Given the description of an element on the screen output the (x, y) to click on. 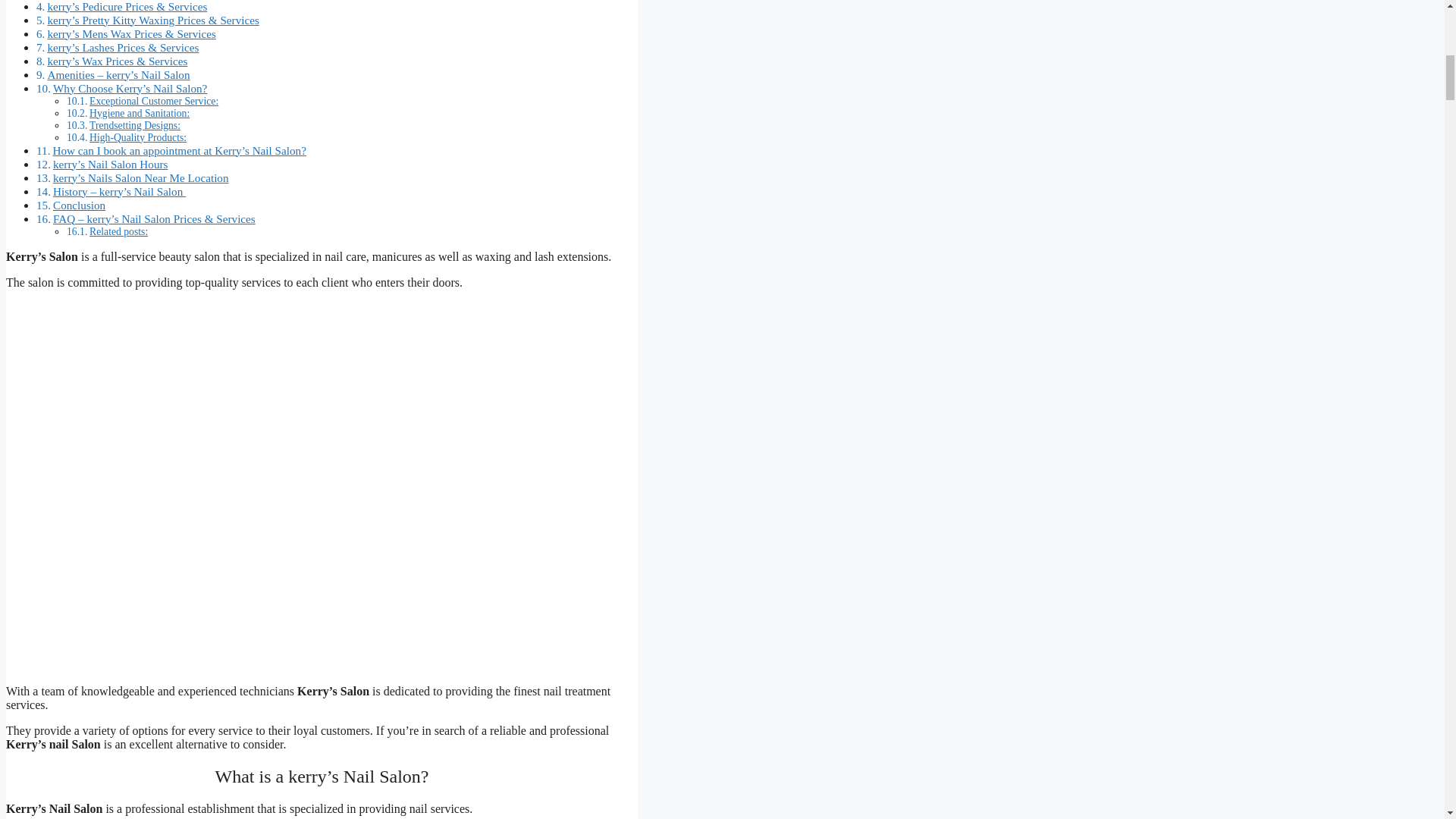
Trendsetting Designs: (134, 125)
Hygiene and Sanitation: (138, 112)
High-Quality Products: (137, 137)
Exceptional Customer Service: (153, 101)
